Given the description of an element on the screen output the (x, y) to click on. 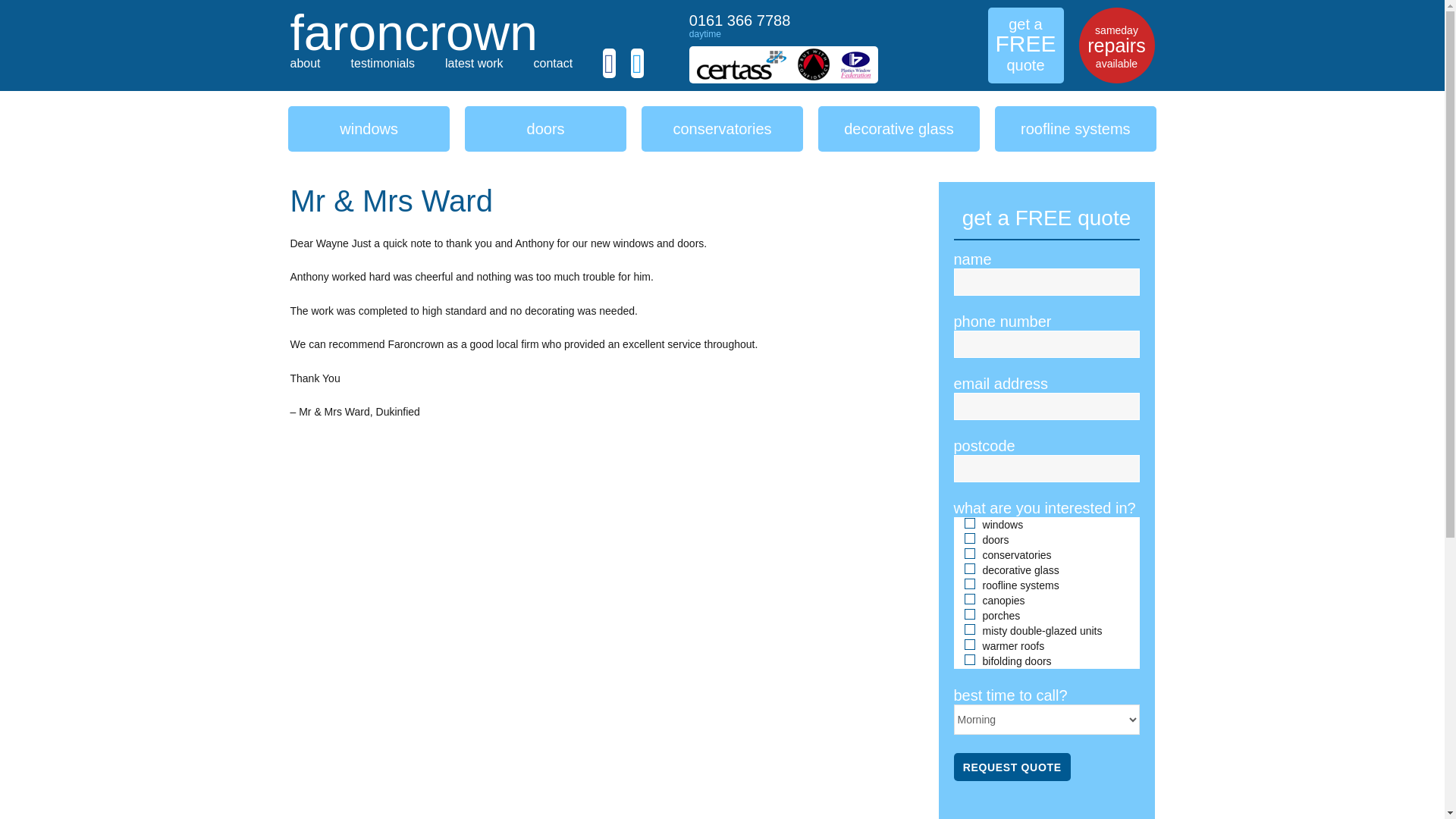
conservatories (722, 128)
windows (969, 522)
canopies (969, 598)
testimonials (382, 62)
doors (969, 538)
porches (969, 614)
contact (553, 62)
roofline systems (969, 583)
sameday repairs available (1116, 45)
warmer roofs (969, 644)
